Given the description of an element on the screen output the (x, y) to click on. 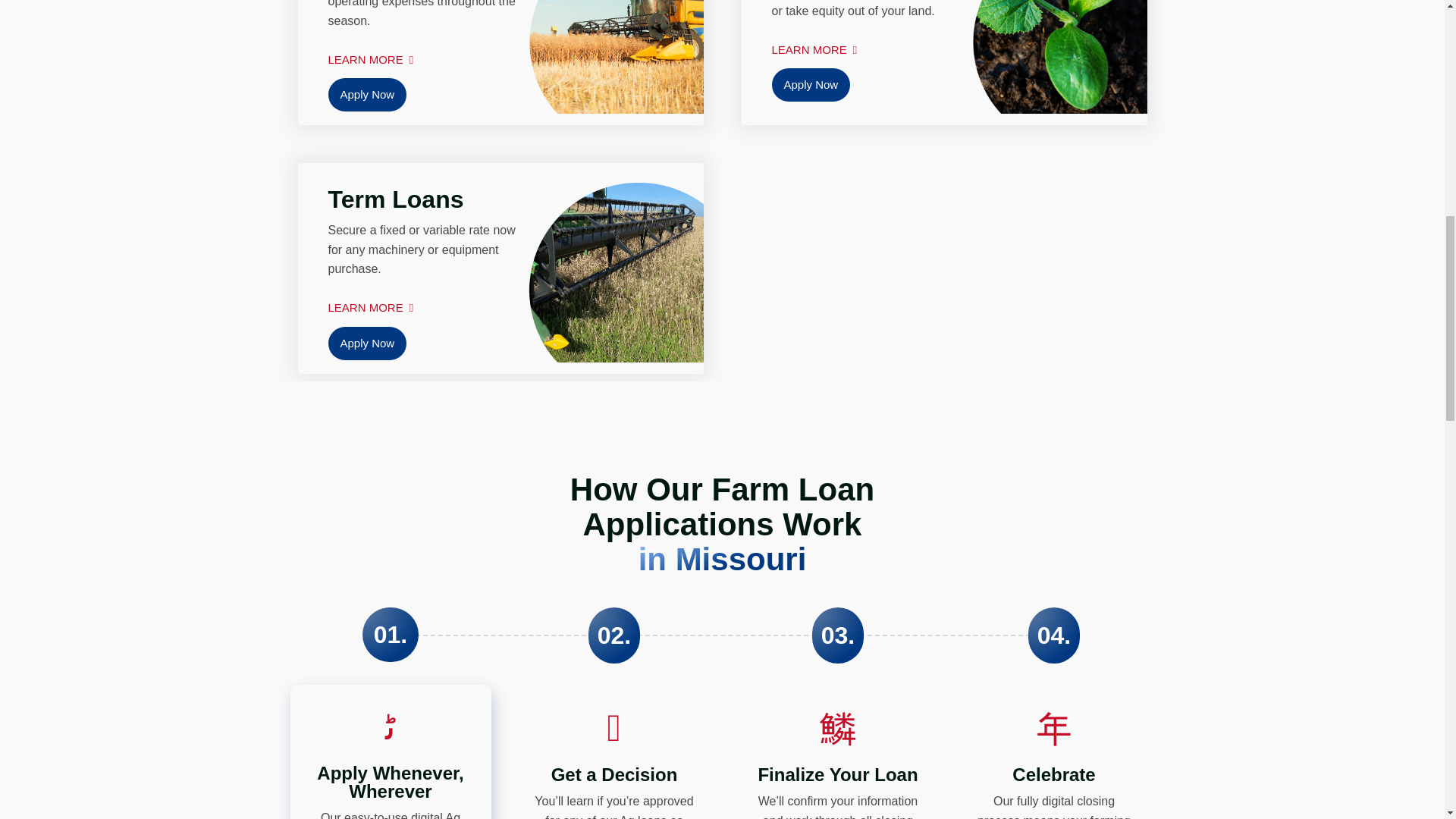
LEARN MORE (370, 301)
Apply Now (366, 94)
LEARN MORE (814, 43)
Apply Now (810, 84)
LEARN MORE (370, 53)
Apply Now (366, 343)
